Given the description of an element on the screen output the (x, y) to click on. 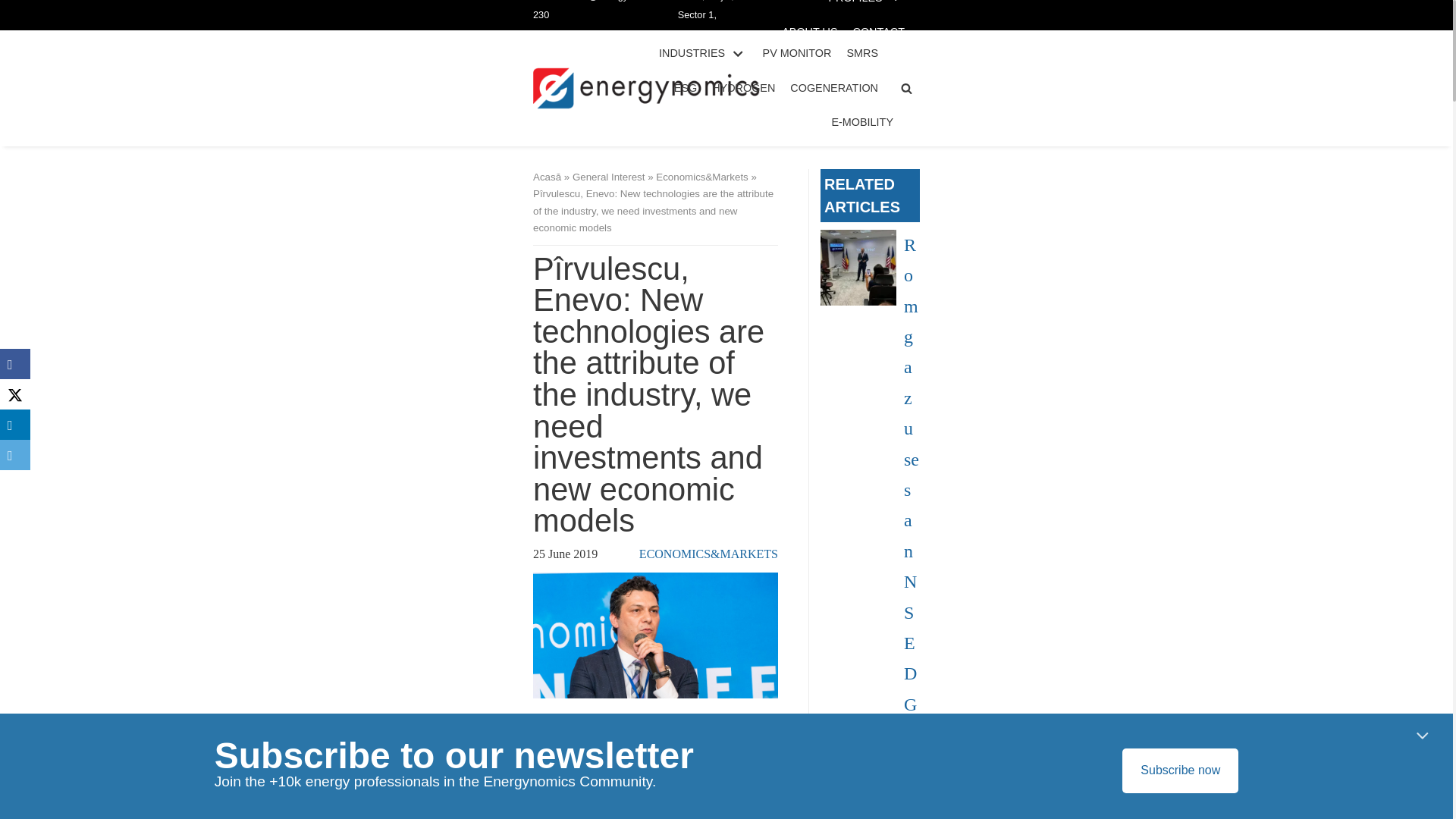
CONTACT (877, 31)
INDUSTRIES (703, 53)
PROFILES (866, 3)
energynomics.ro (646, 87)
Skip to content (15, 7)
Str. Teheran nr. 22, etaj 1, Sector 1, Bucuresti, 011932 (708, 29)
ABOUT US (809, 31)
